Given the description of an element on the screen output the (x, y) to click on. 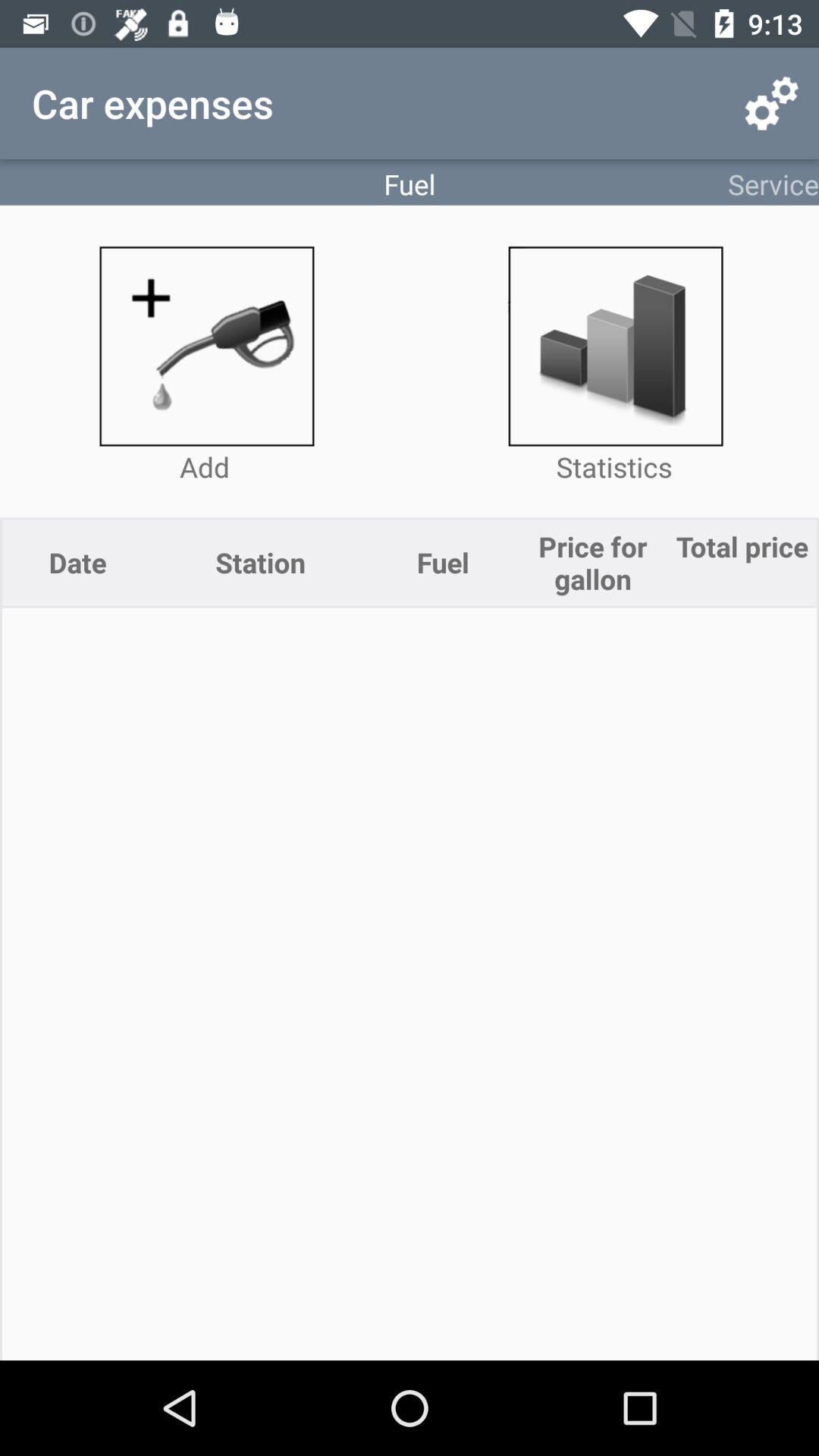
add fuel entry (204, 345)
